Given the description of an element on the screen output the (x, y) to click on. 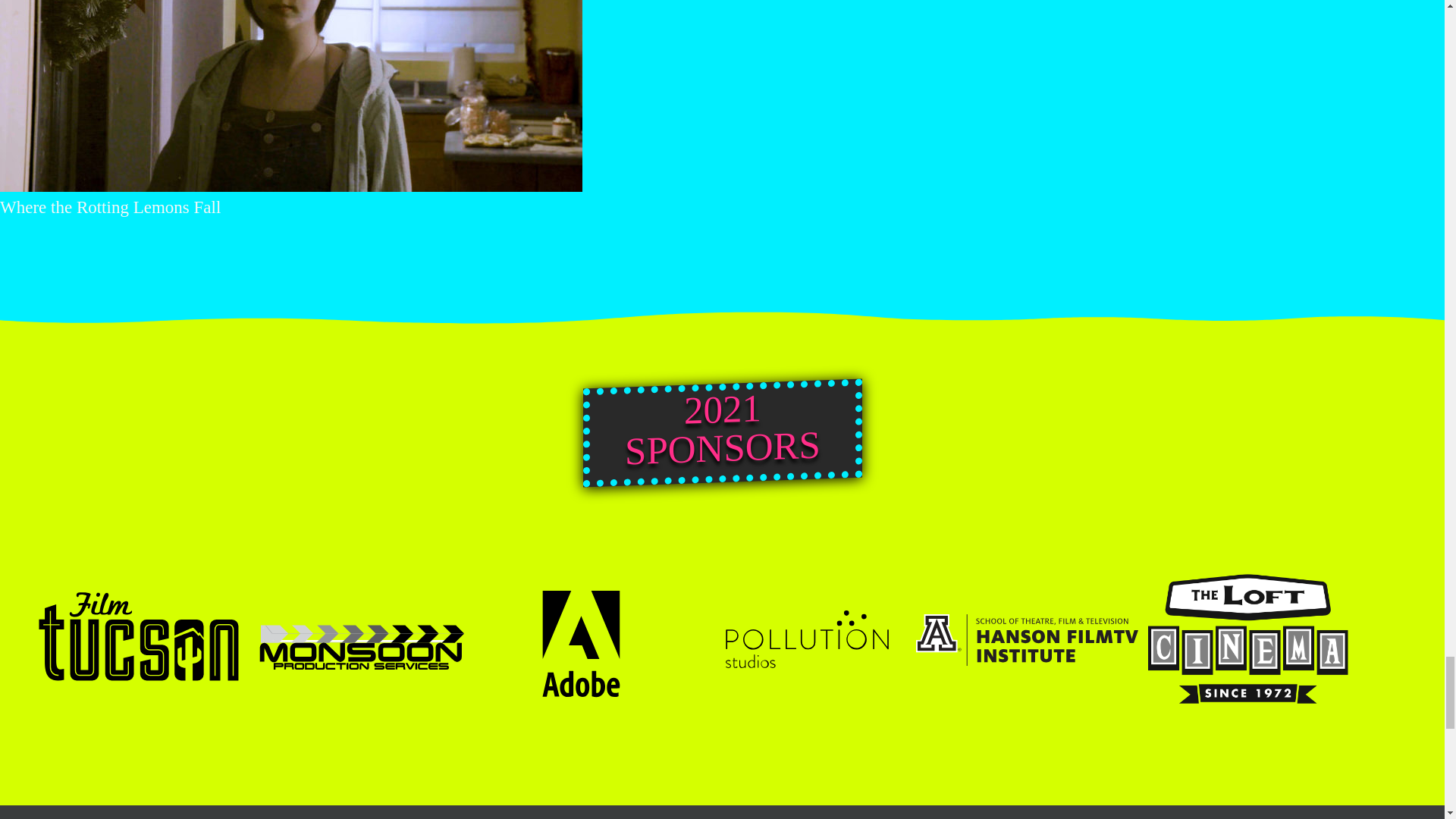
LoftCinema21 (1248, 639)
HansonFilmTV21 (1026, 639)
